Given the description of an element on the screen output the (x, y) to click on. 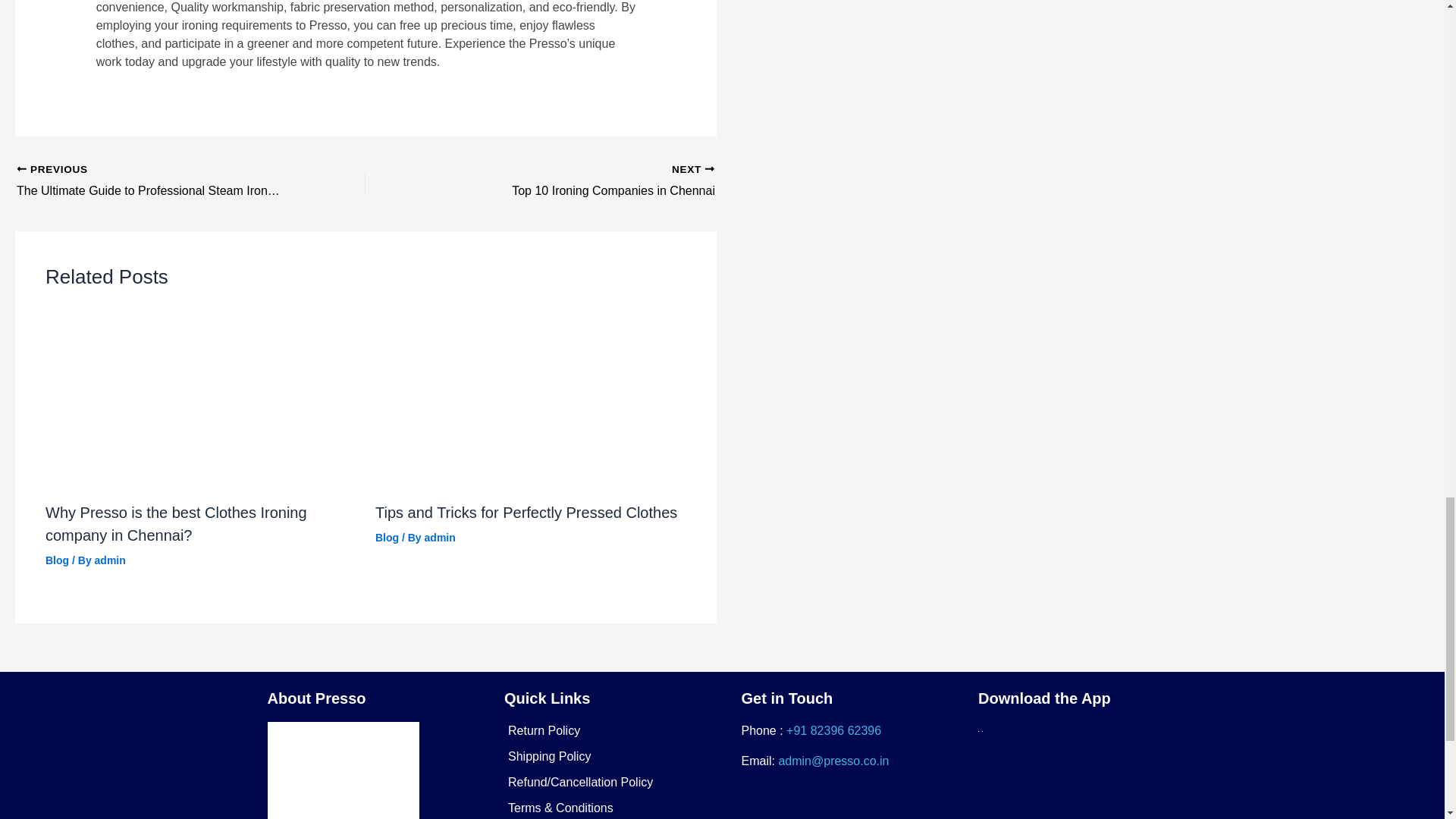
Presso Logo (342, 770)
Top 10 Ironing Companies in Chennai (573, 181)
The Ultimate Guide to Professional Steam Ironing Services (573, 181)
View all posts by admin (156, 181)
Blog (440, 537)
Blog (386, 537)
Return Policy (56, 560)
admin (543, 730)
